Given the description of an element on the screen output the (x, y) to click on. 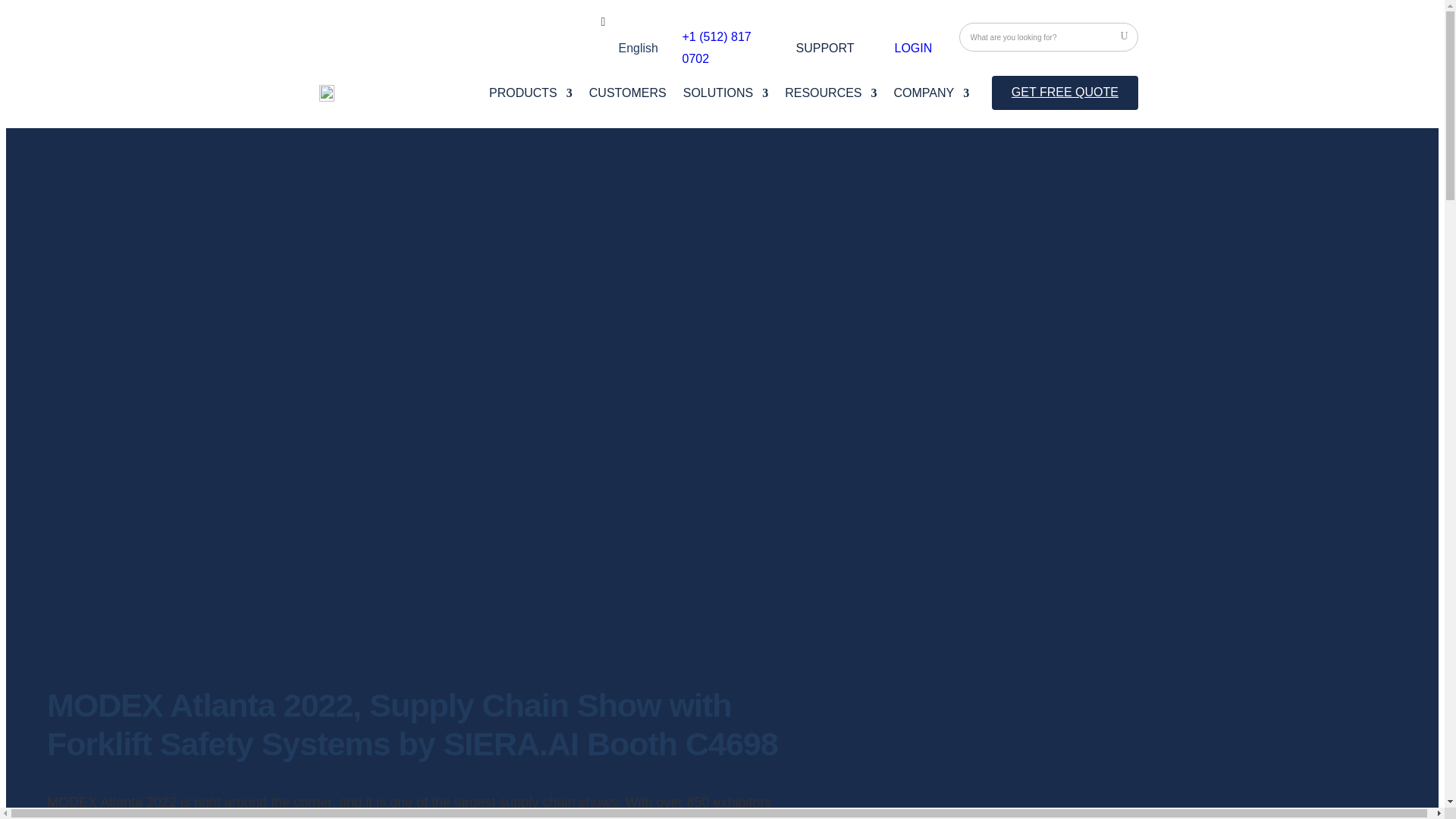
CUSTOMERS (627, 95)
Search (1123, 36)
LOGIN (914, 47)
Search (1123, 36)
RESOURCES (830, 95)
Search (1123, 36)
SOLUTIONS (725, 95)
Posts by SIERA.AI (42, 98)
SUPPORT (825, 51)
PRODUCTS (530, 95)
